Given the description of an element on the screen output the (x, y) to click on. 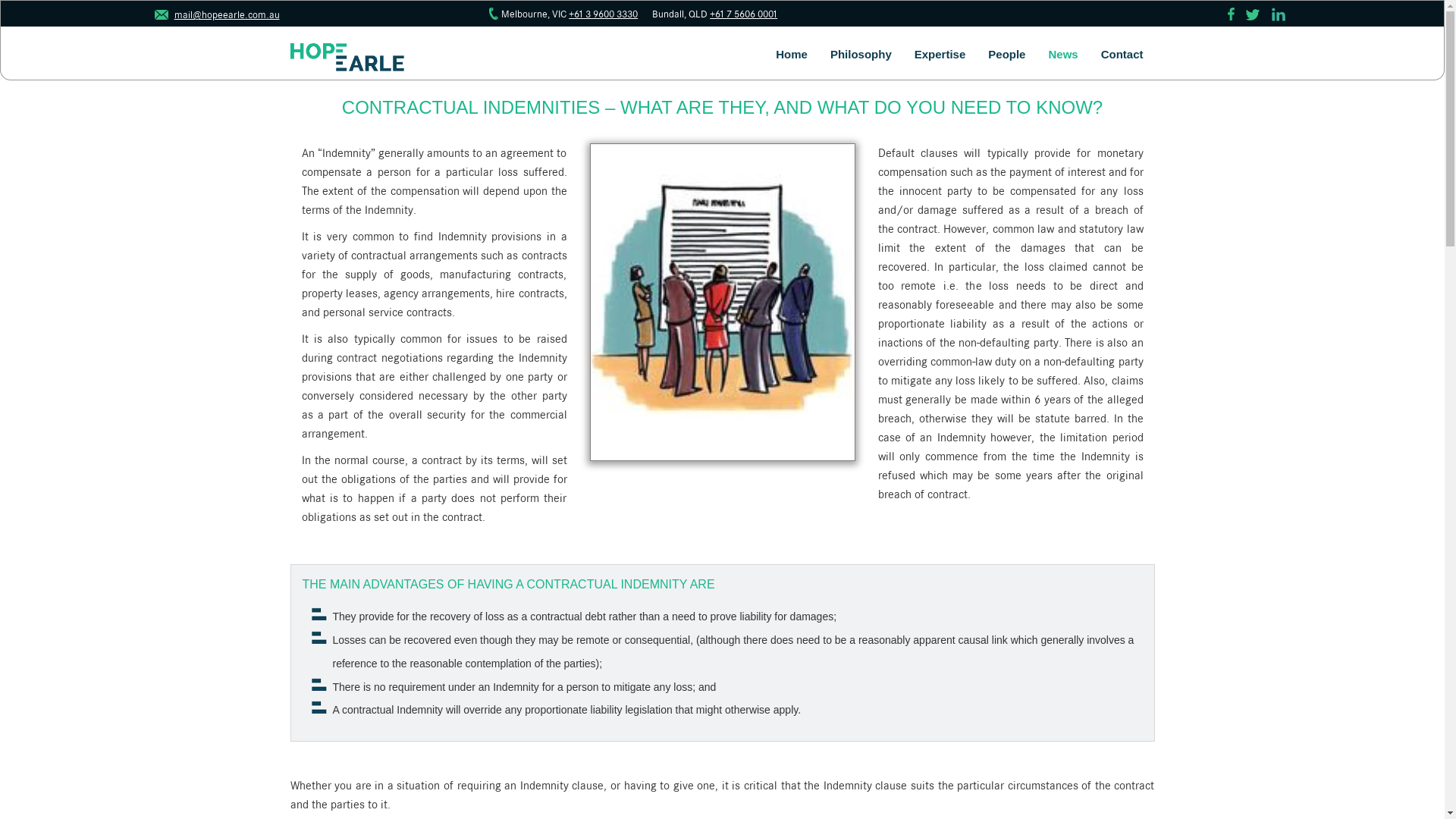
News Element type: text (1062, 54)
Philosophy Element type: text (861, 54)
Contact Element type: text (1121, 54)
Expertise Element type: text (940, 54)
+61 3 9600 3330 Element type: text (602, 13)
People Element type: text (1006, 54)
Home Element type: text (791, 54)
 mail@hopeearle.com.au Element type: text (216, 14)
+61 7 5606 0001 Element type: text (743, 13)
